Given the description of an element on the screen output the (x, y) to click on. 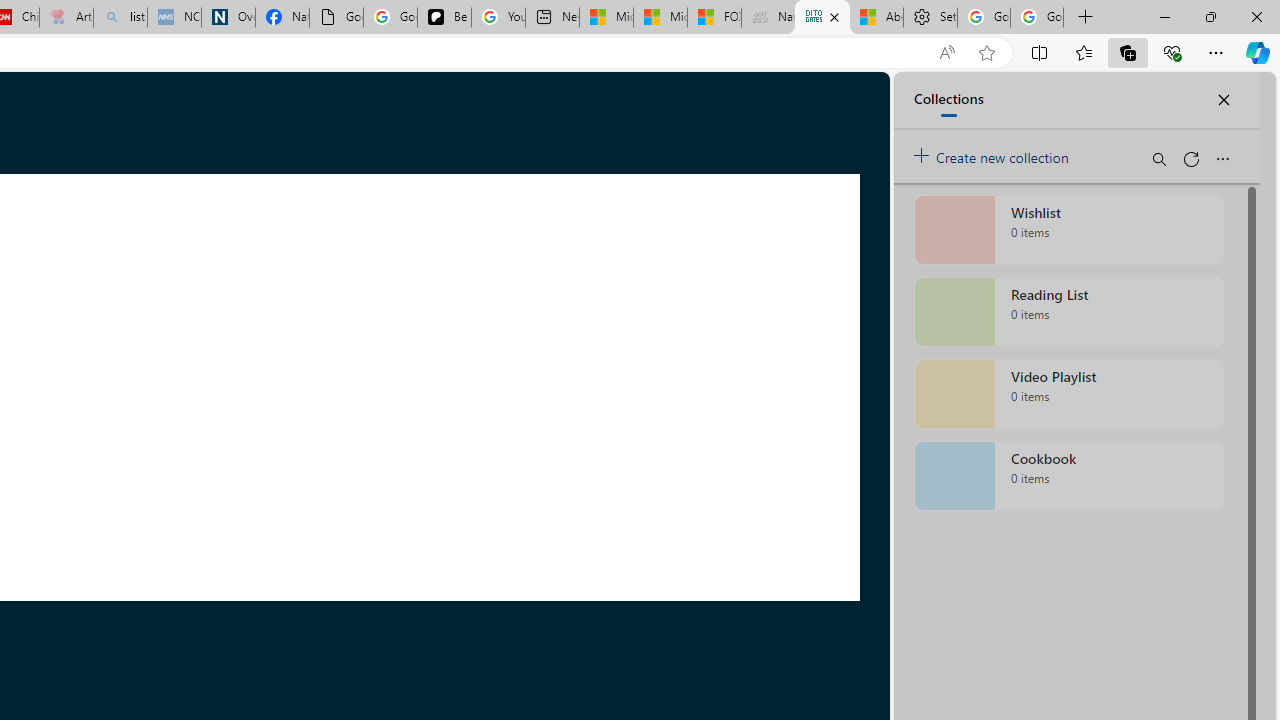
DITOGAMES AG Imprint (822, 17)
Be Smart | creating Science videos | Patreon (444, 17)
Aberdeen, Hong Kong SAR hourly forecast | Microsoft Weather (875, 17)
